Given the description of an element on the screen output the (x, y) to click on. 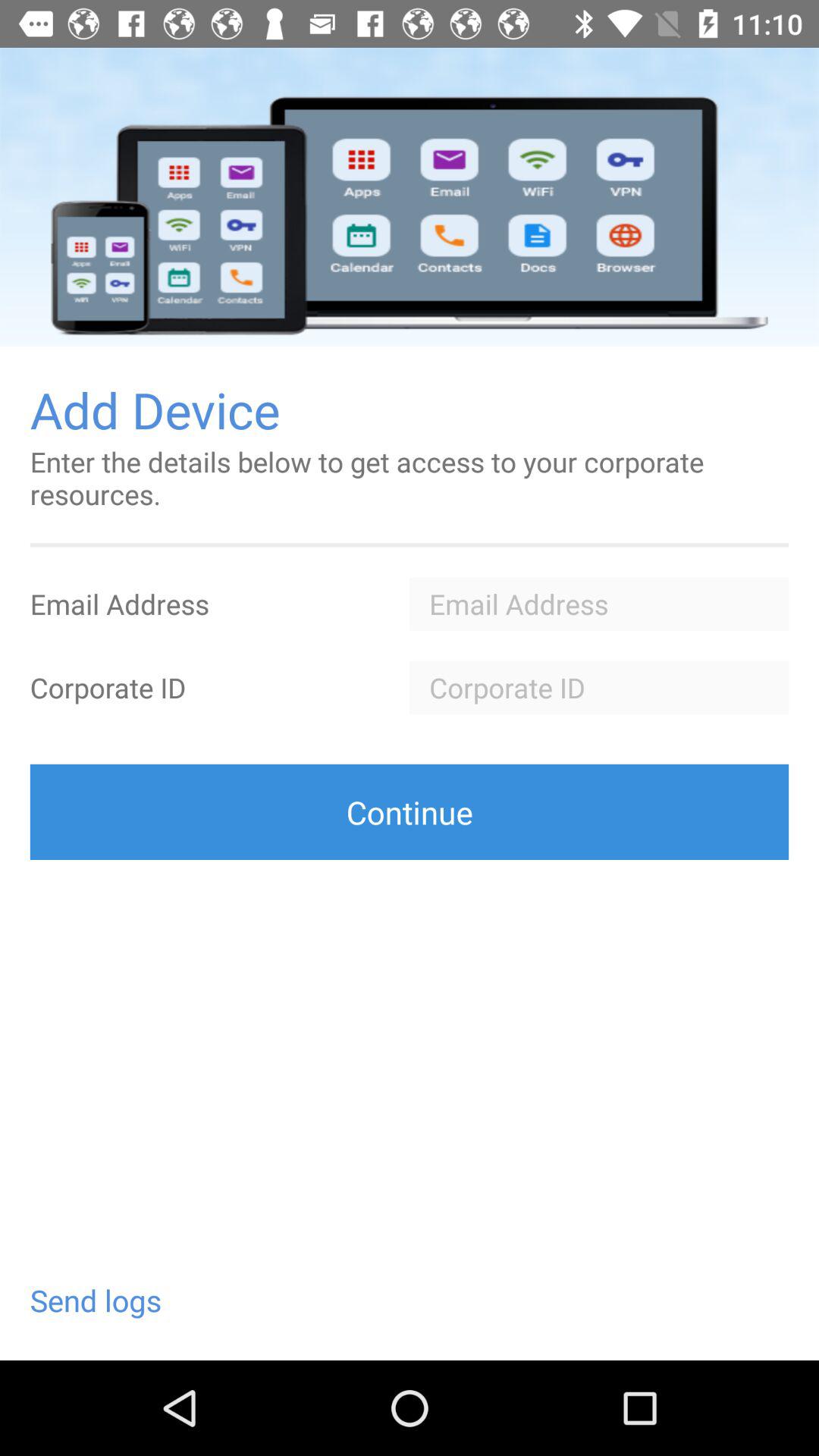
click send logs at the bottom left corner (95, 1300)
